Given the description of an element on the screen output the (x, y) to click on. 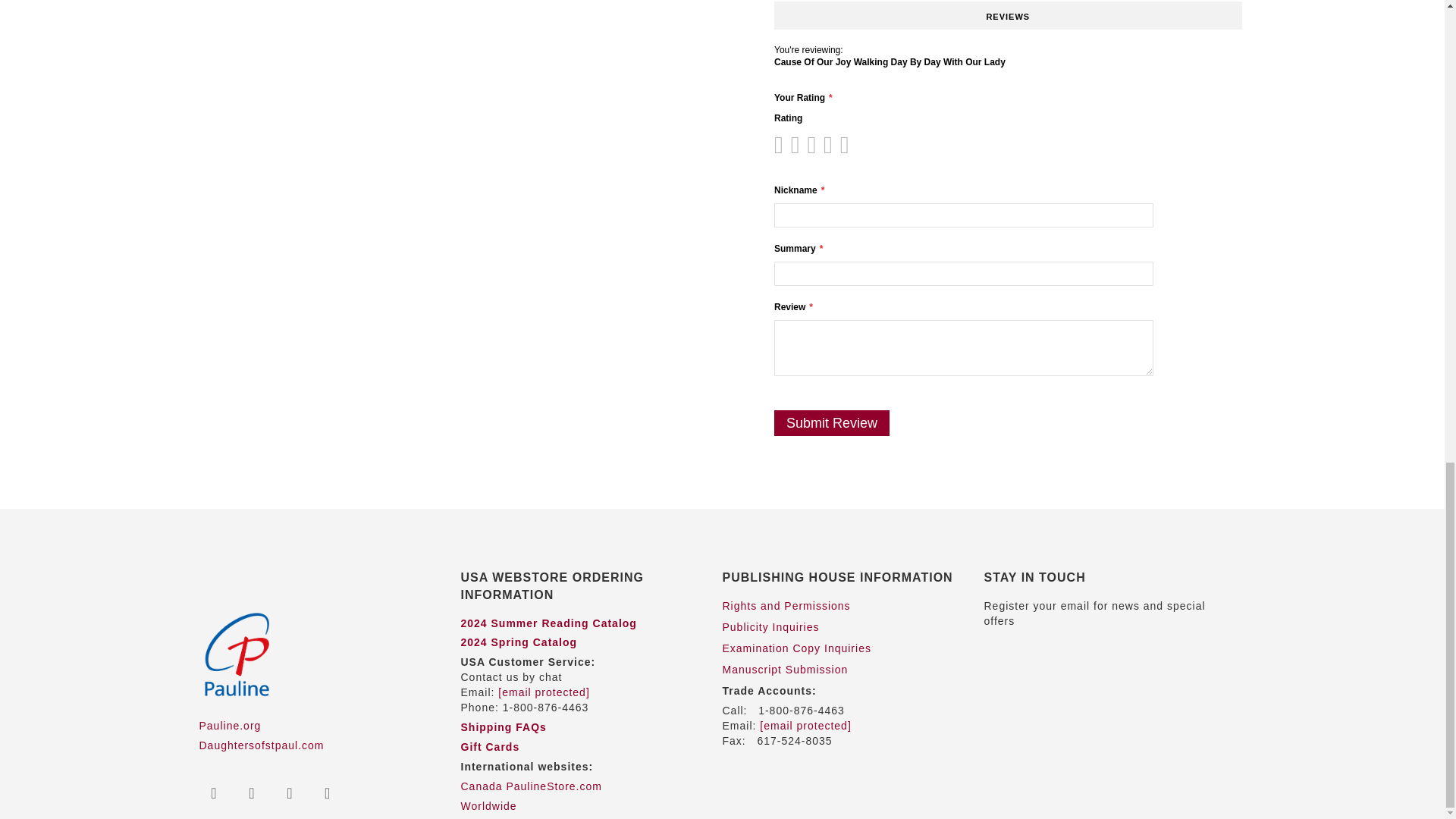
4 stars (807, 144)
2 stars (790, 144)
3 stars (799, 144)
5 stars (815, 144)
